Given the description of an element on the screen output the (x, y) to click on. 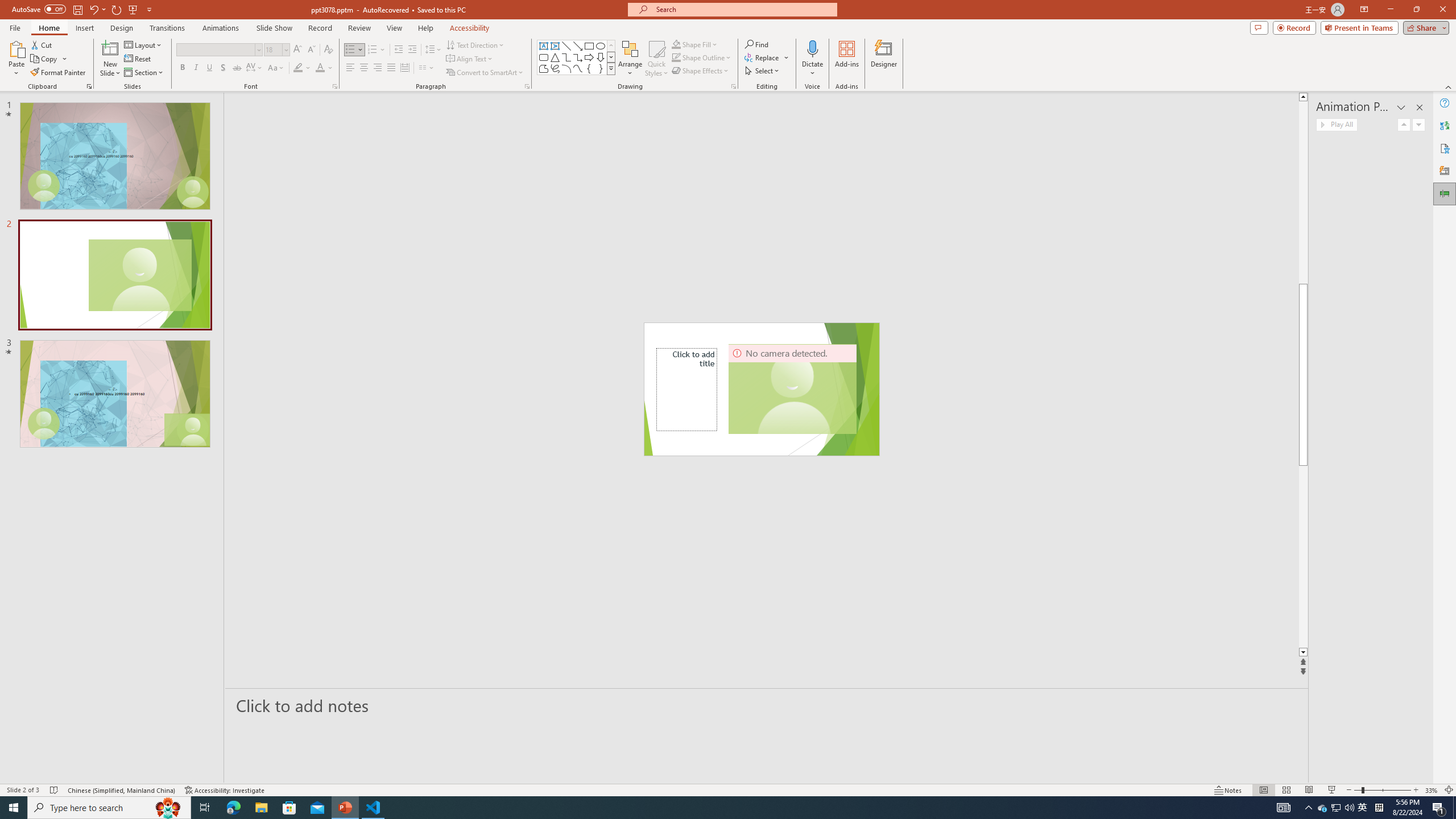
Bold (182, 67)
Transitions (167, 28)
Increase Indent (412, 49)
Page up (1302, 192)
Zoom (1382, 790)
Office Clipboard... (88, 85)
View (395, 28)
Font... (334, 85)
Shape Fill (694, 44)
Task Pane Options (1400, 107)
Format Object... (733, 85)
Section (144, 72)
Curve (577, 68)
Right Brace (600, 68)
More Options (812, 68)
